Given the description of an element on the screen output the (x, y) to click on. 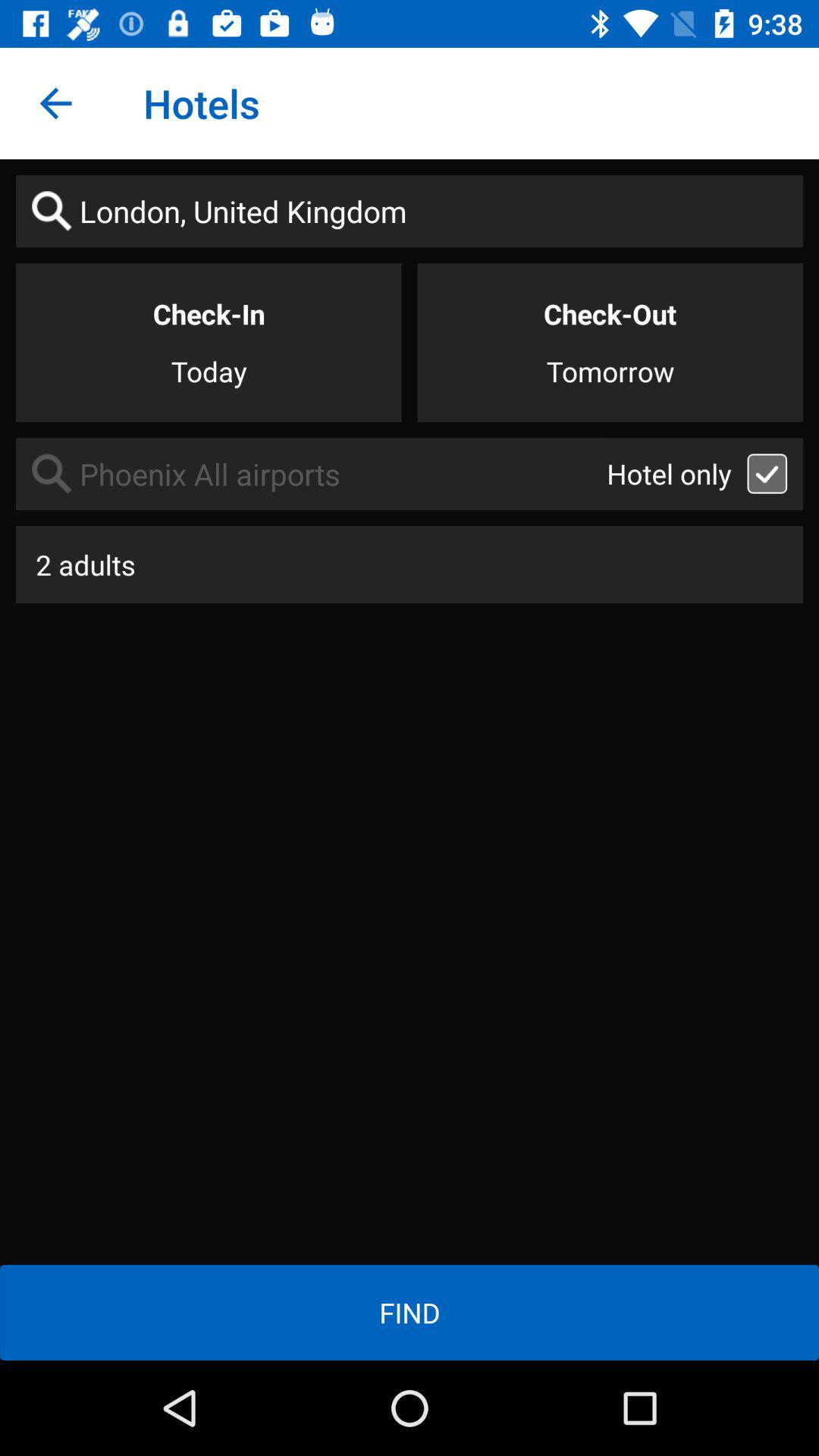
click icon below phoenix all airports (409, 564)
